Given the description of an element on the screen output the (x, y) to click on. 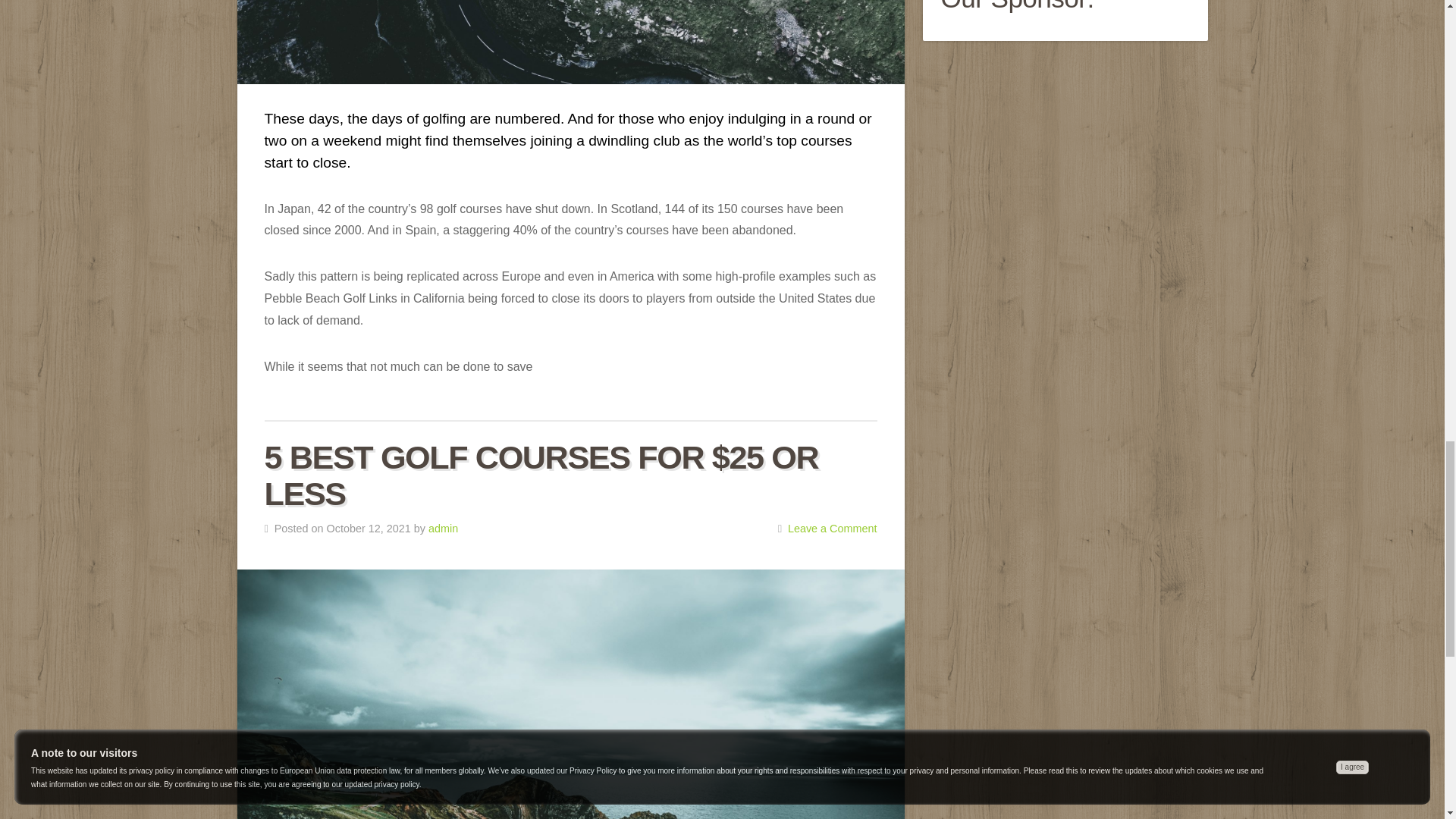
admin (443, 528)
Leave a Comment (832, 528)
Posts by admin (443, 528)
Permalink to How to Find Discounted Green Fees Online (569, 42)
